Given the description of an element on the screen output the (x, y) to click on. 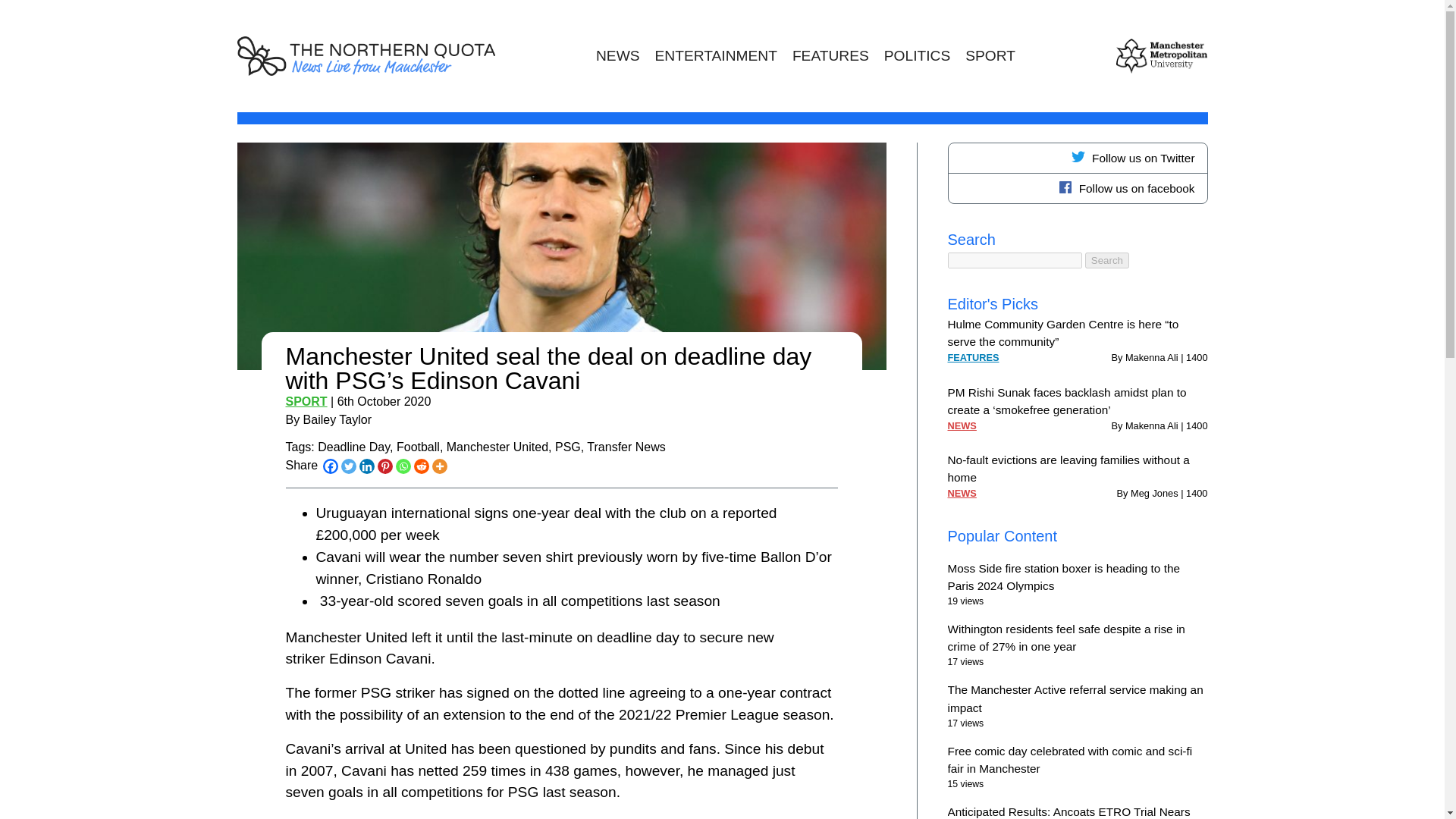
Facebook (330, 466)
Whatsapp (403, 466)
NEWS (961, 425)
Football (417, 446)
Search (1106, 260)
Pinterest (385, 466)
Manchester United (497, 446)
Linkedin (366, 466)
FEATURES (830, 55)
Search (1106, 260)
More (439, 466)
POLITICS (916, 55)
Follow us on facebook (1077, 188)
No-fault evictions are leaving families without a home (1068, 468)
